Given the description of an element on the screen output the (x, y) to click on. 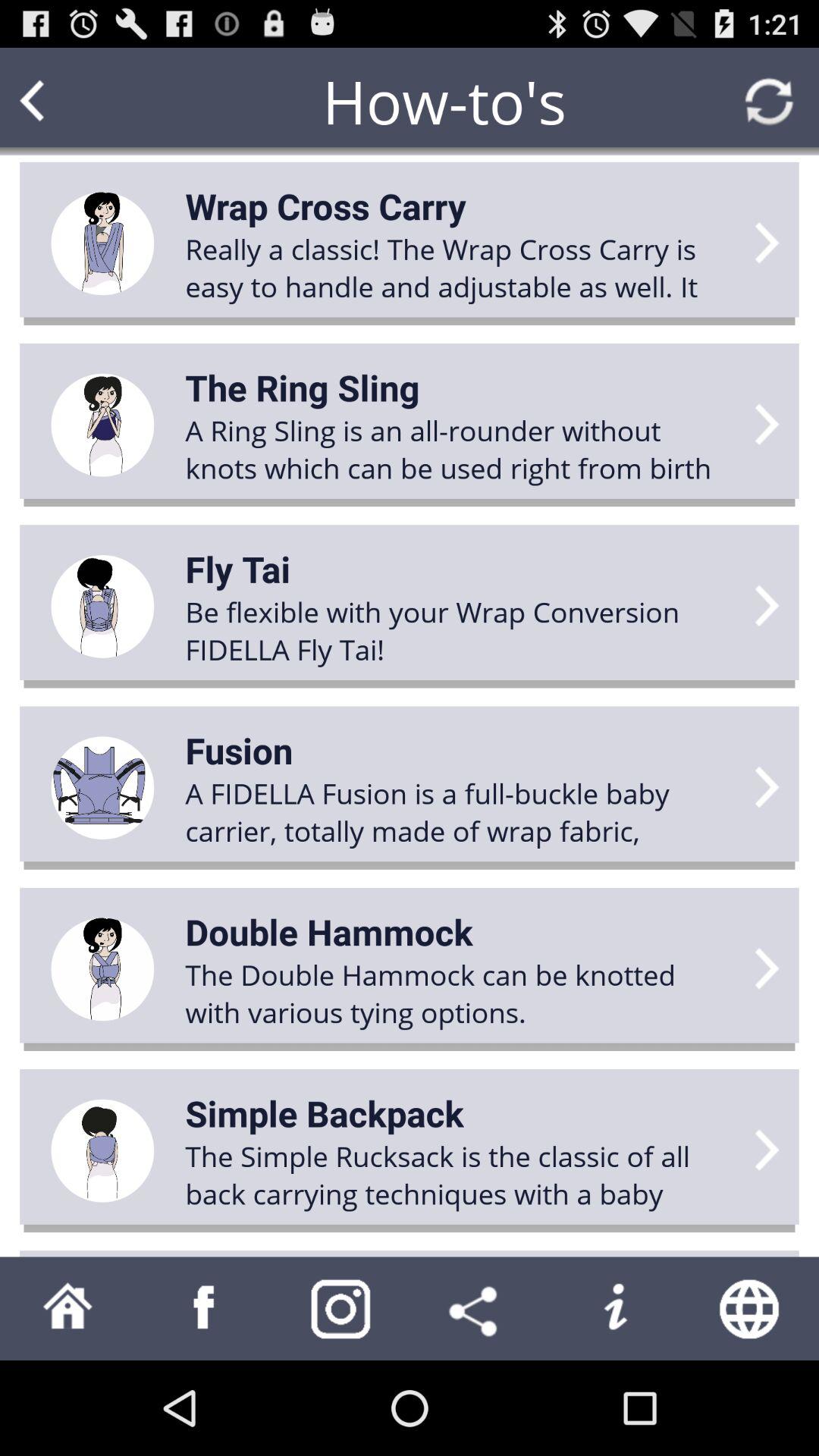
flip to simple backpack (324, 1113)
